Given the description of an element on the screen output the (x, y) to click on. 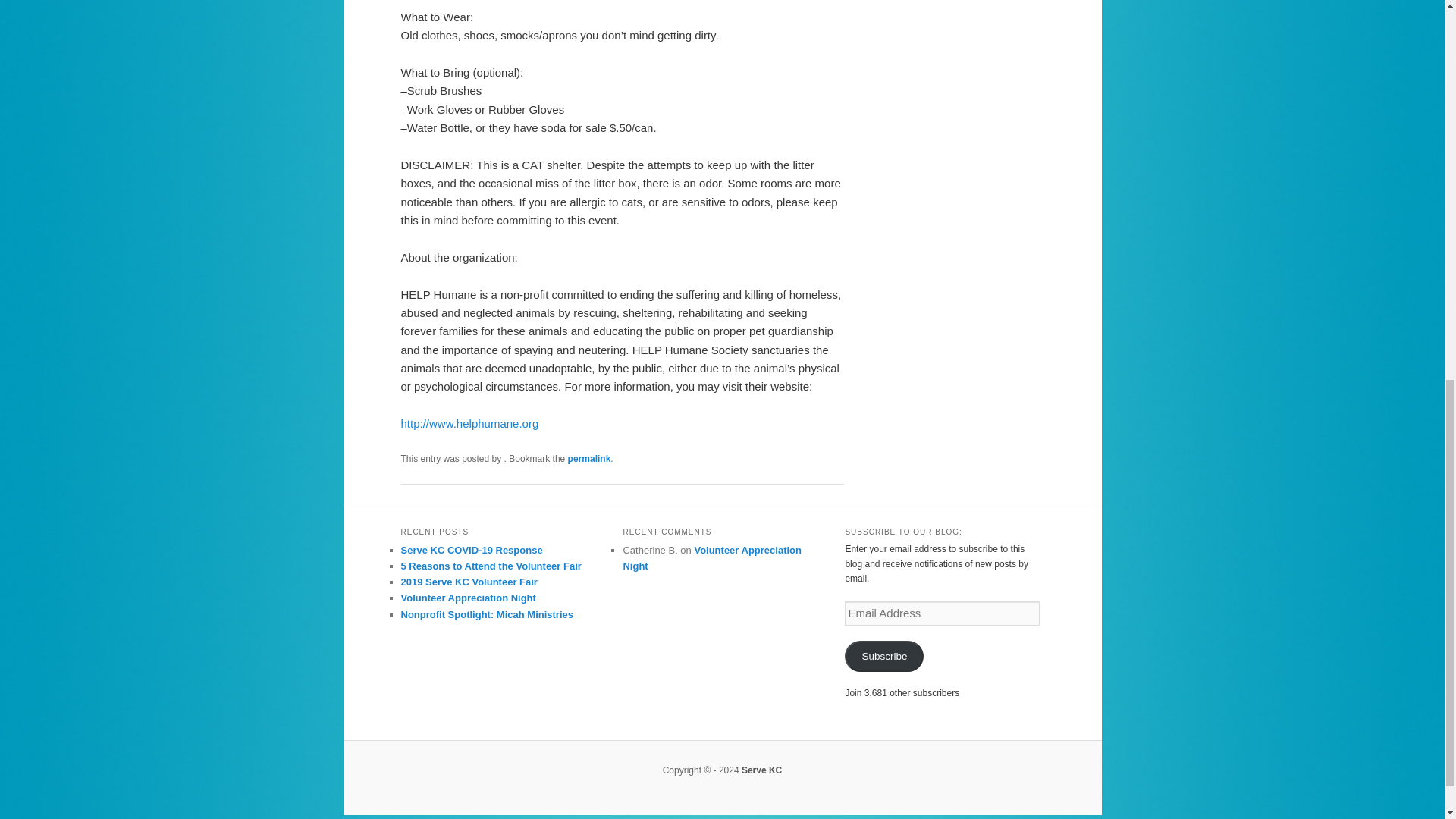
2019 Serve KC Volunteer Fair (468, 582)
Subscribe (883, 655)
Serve KC COVID-19 Response (470, 550)
5 Reasons to Attend the Volunteer Fair (490, 565)
Nonprofit Spotlight: Micah Ministries (486, 614)
Volunteer Appreciation Night (712, 557)
Volunteer Appreciation Night (467, 597)
permalink (589, 458)
Serve KC (761, 769)
